Given the description of an element on the screen output the (x, y) to click on. 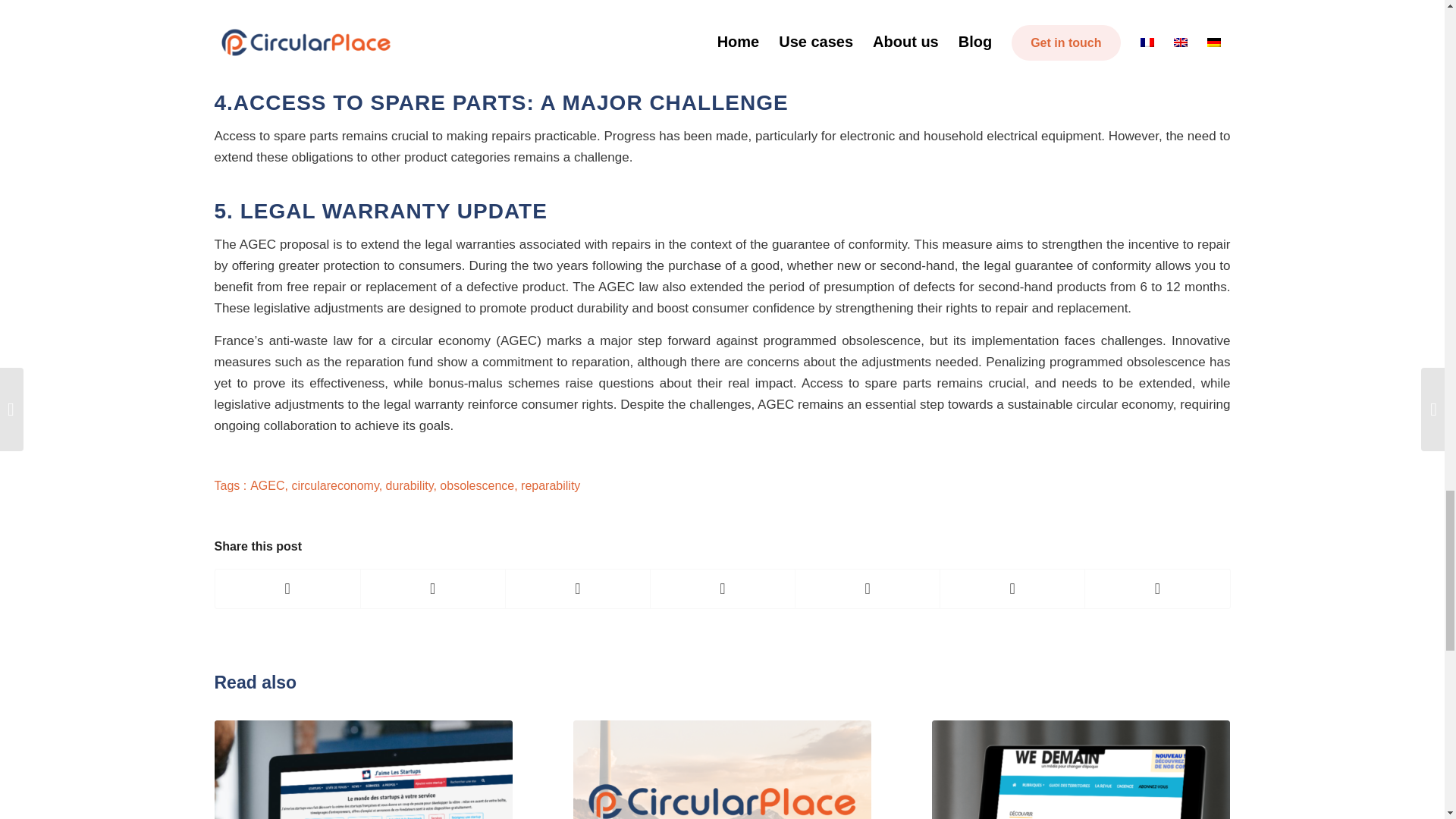
AGEC (266, 485)
reparability (550, 485)
circulareconomy (334, 485)
durability (409, 485)
obsolescence (476, 485)
photo-1588508065123-287b28e013da (452, 26)
